Given the description of an element on the screen output the (x, y) to click on. 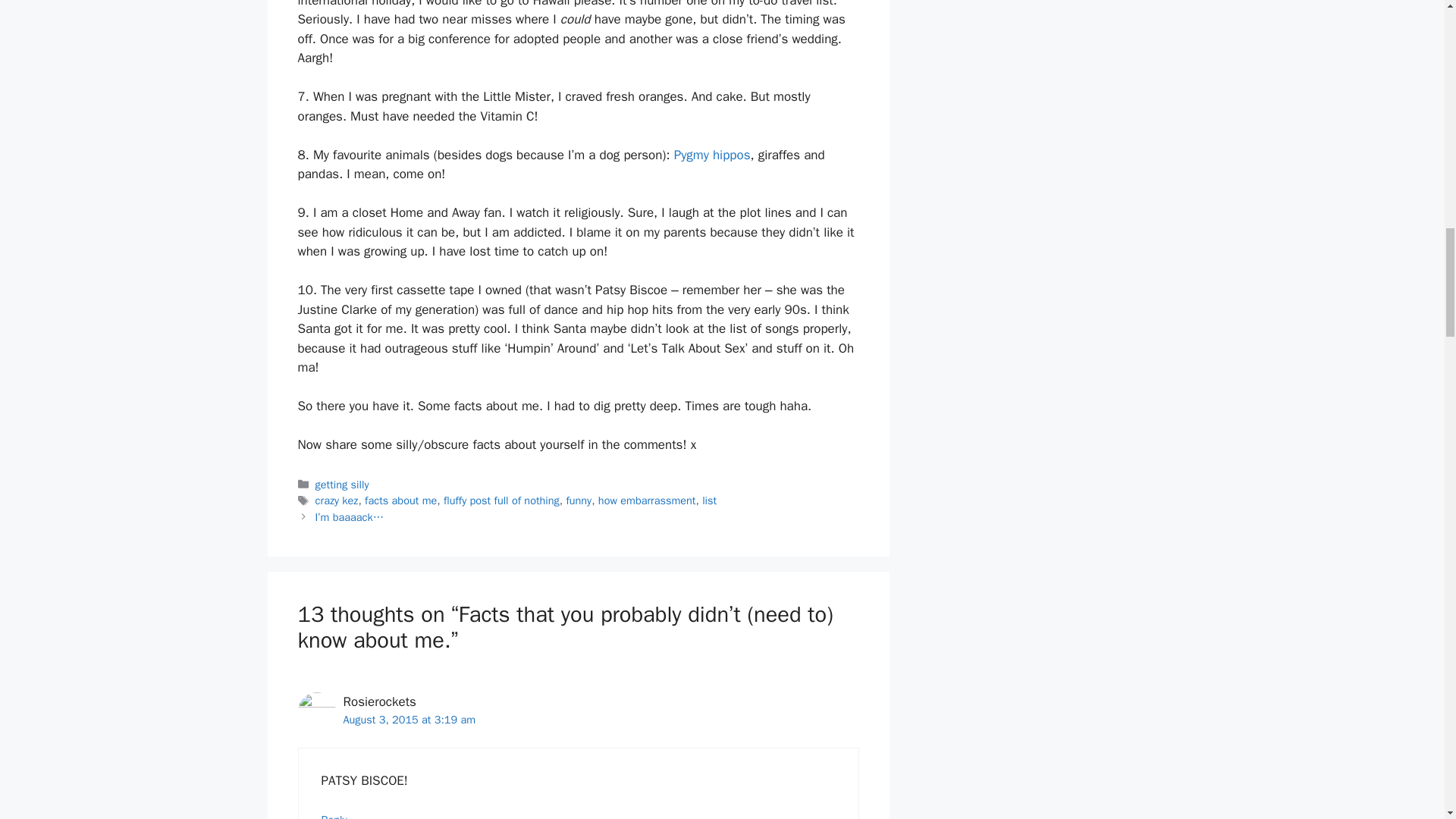
how embarrassment (646, 499)
facts about me (400, 499)
list (708, 499)
Pygmy hippos (712, 154)
crazy kez (336, 499)
funny (578, 499)
getting silly (342, 484)
fluffy post full of nothing (501, 499)
Reply (334, 816)
August 3, 2015 at 3:19 am (409, 719)
